Given the description of an element on the screen output the (x, y) to click on. 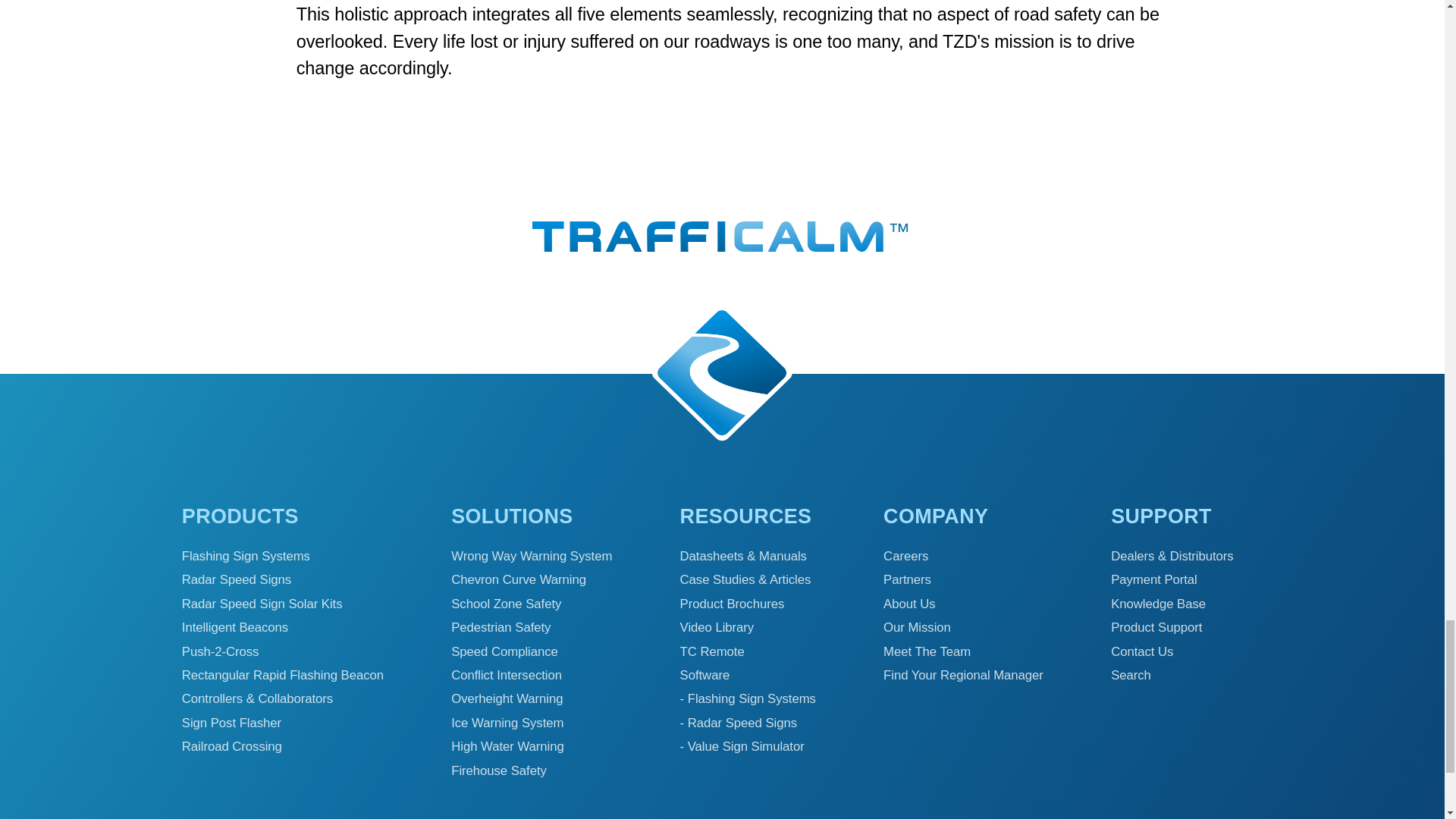
Payment Portal (1153, 579)
Sign Post Flasher (231, 722)
TraffiCalm Partners (907, 579)
